Given the description of an element on the screen output the (x, y) to click on. 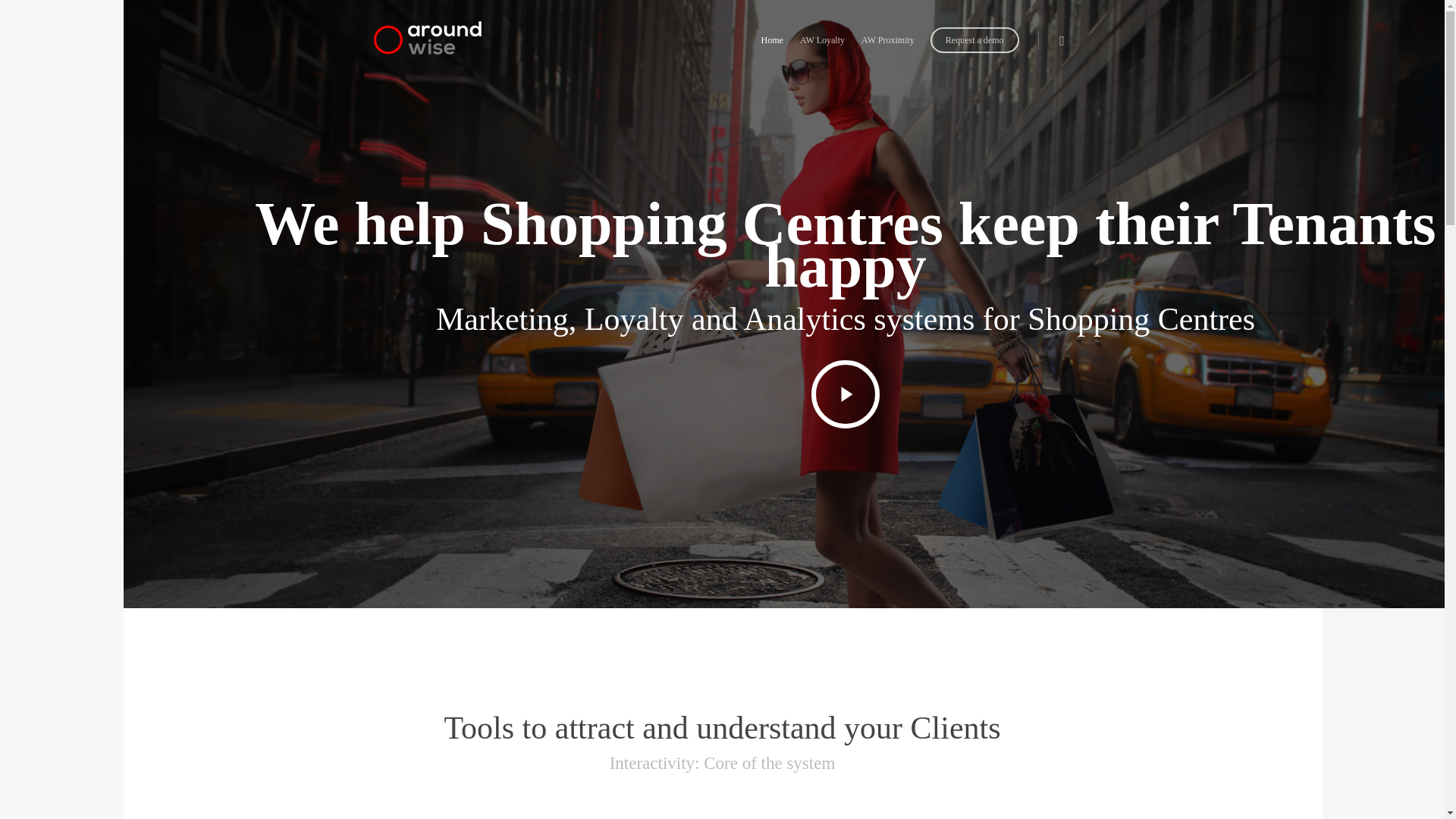
Home (772, 50)
AW Loyalty (821, 50)
Request a demo (974, 50)
AW Proximity (887, 50)
